Given the description of an element on the screen output the (x, y) to click on. 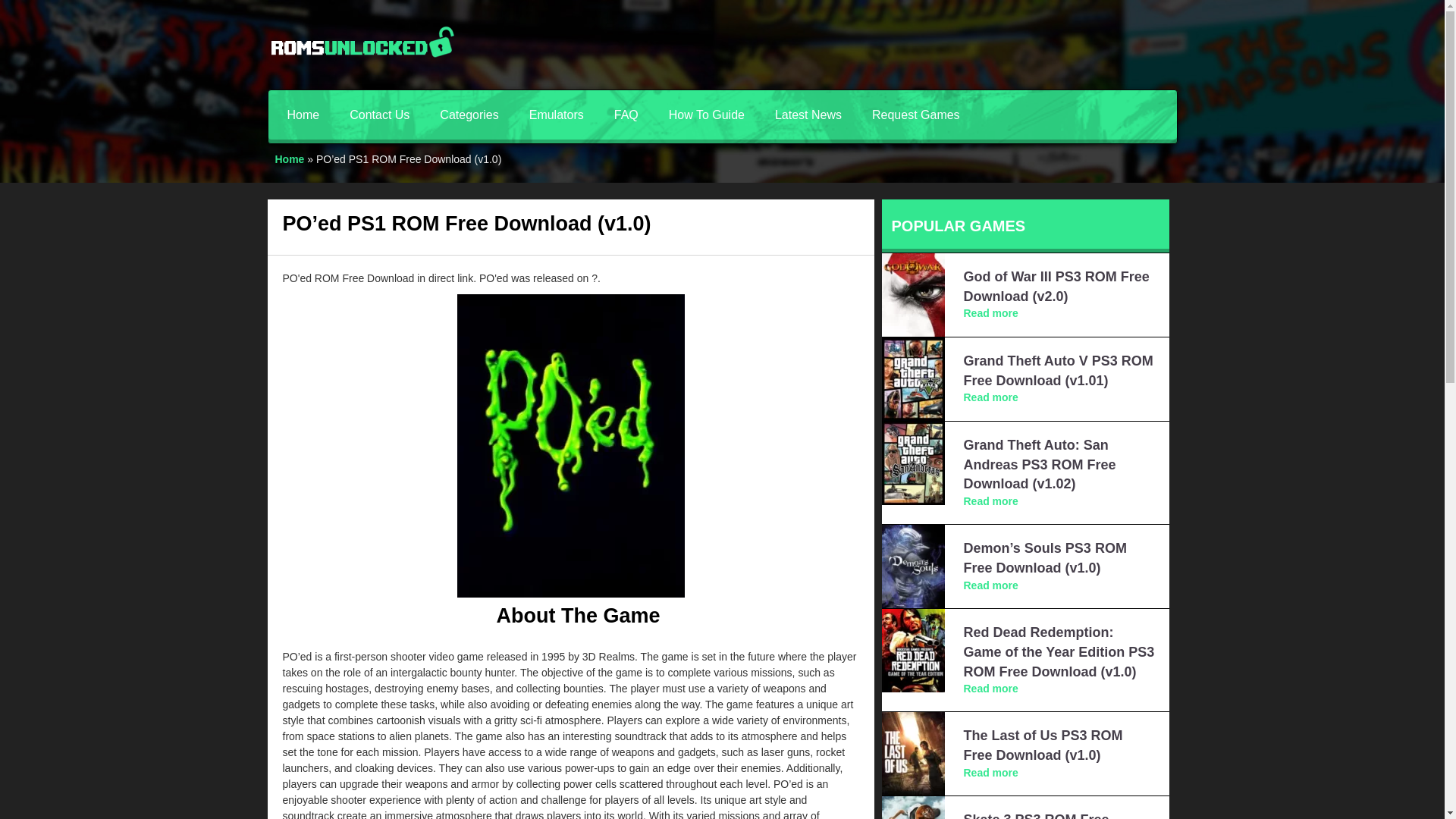
FAQ (625, 114)
Emulators (555, 114)
Request Games (916, 114)
Read more (989, 500)
Latest News (808, 114)
Read more (989, 772)
Read more (989, 688)
Home (302, 114)
How To Guide (706, 114)
Contact Us (379, 114)
